Given the description of an element on the screen output the (x, y) to click on. 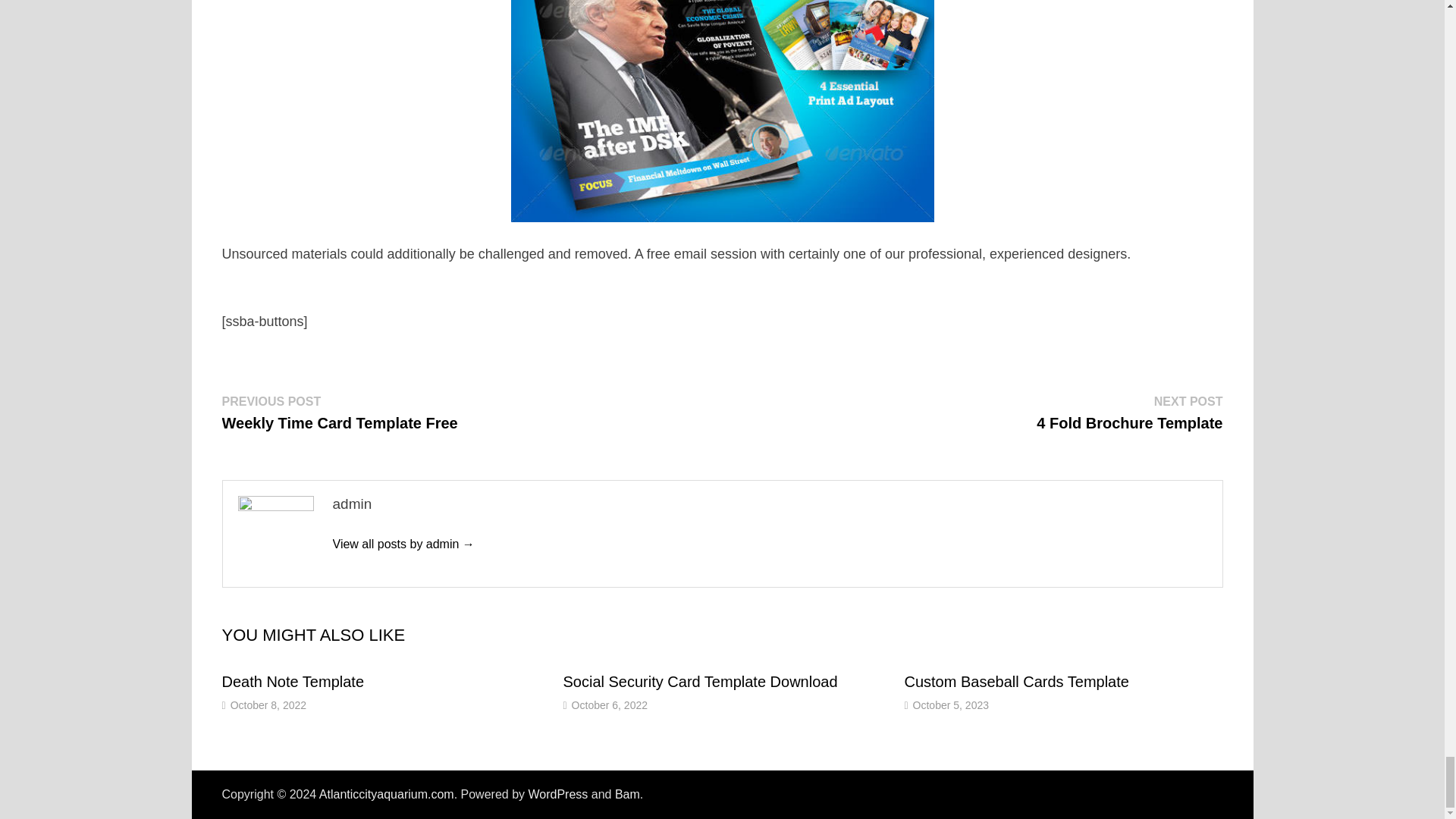
Death Note Template (292, 681)
October 6, 2022 (339, 412)
WordPress (609, 705)
admin (557, 793)
Custom Baseball Cards Template (402, 543)
Social Security Card Template Download (1016, 681)
October 8, 2022 (699, 681)
Bam (267, 705)
Death Note Template (627, 793)
Atlanticcityaquarium.com (292, 681)
Social Security Card Template Download (1129, 412)
Custom Baseball Cards Template (386, 793)
Atlanticcityaquarium.com (699, 681)
